Given the description of an element on the screen output the (x, y) to click on. 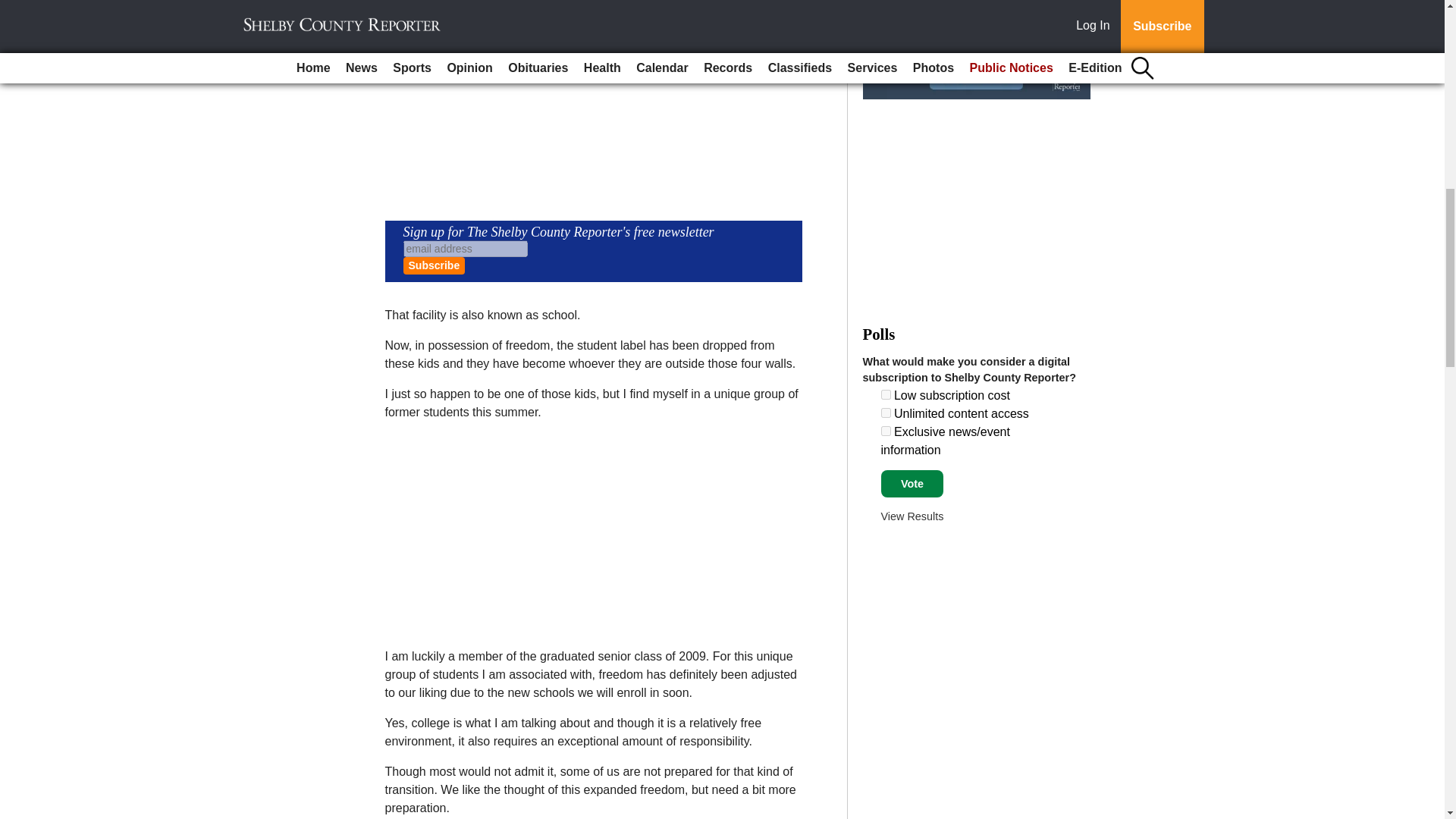
View Results Of This Poll (911, 516)
Subscribe (434, 265)
4637 (885, 412)
4638 (885, 430)
   Vote    (911, 483)
4636 (885, 394)
